Given the description of an element on the screen output the (x, y) to click on. 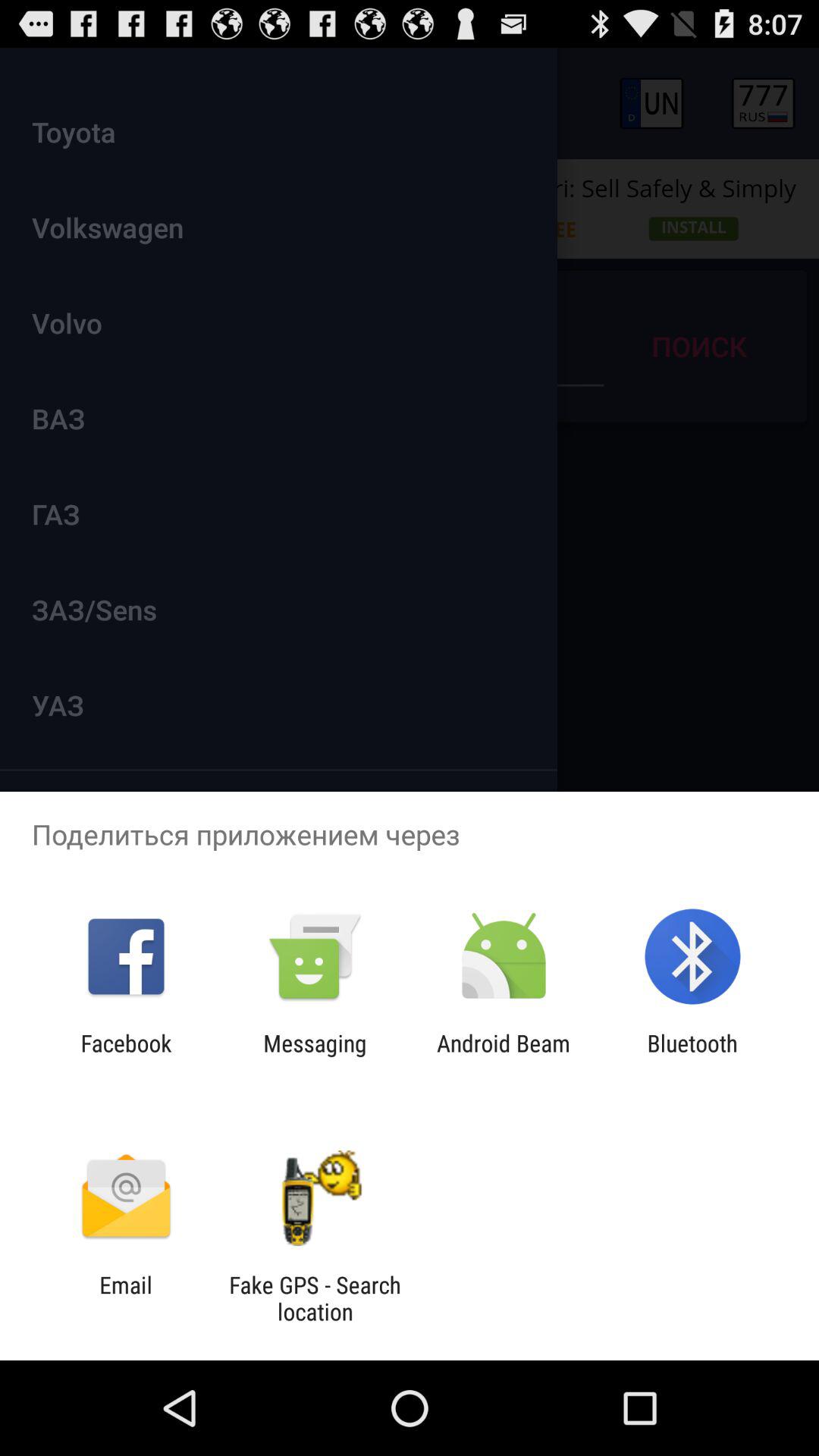
turn on the app to the right of the facebook icon (314, 1056)
